Given the description of an element on the screen output the (x, y) to click on. 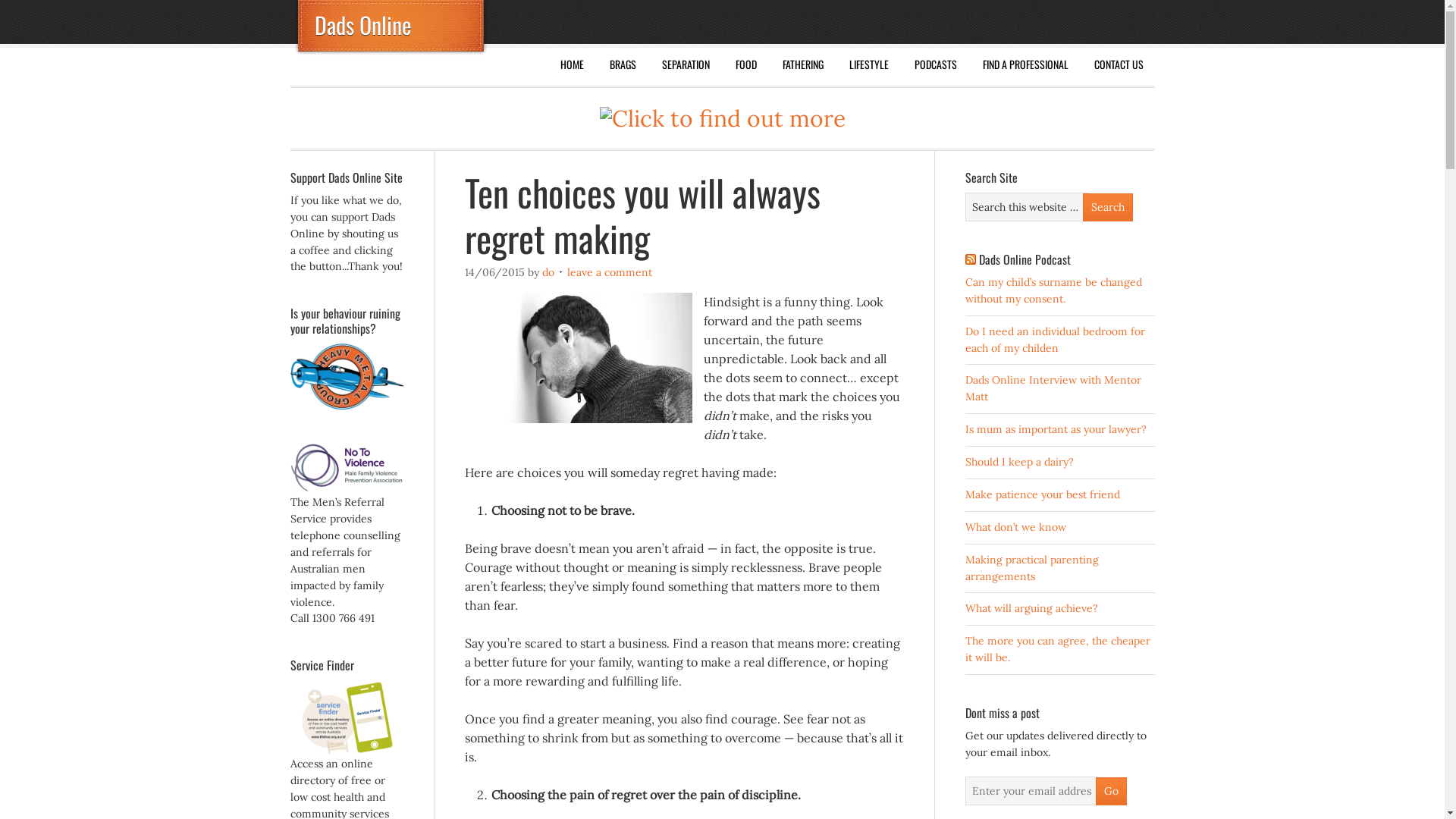
SEPARATION Element type: text (685, 62)
Do I need an individual bedroom for each of my childen Element type: text (1054, 339)
leave a comment Element type: text (609, 272)
Is your behaviour ruining your relationships? Element type: hover (346, 405)
PODCASTS Element type: text (934, 62)
FATHERING Element type: text (802, 62)
Make patience your best friend Element type: text (1041, 494)
BRAGS Element type: text (621, 62)
do Element type: text (547, 272)
Is mum as important as your lawyer? Element type: text (1054, 429)
Search Element type: text (1107, 207)
FOOD Element type: text (745, 62)
LIFESTYLE Element type: text (868, 62)
Dads Online Interview with Mentor Matt Element type: text (1052, 388)
HOME Element type: text (572, 62)
Dads Online Element type: text (362, 24)
CONTACT US Element type: text (1118, 62)
Dads Online Podcast Element type: text (1024, 259)
Making practical parenting arrangements Element type: text (1031, 567)
Go Element type: text (1110, 791)
The more you can agree, the cheaper it will be. Element type: text (1056, 648)
Should I keep a dairy? Element type: text (1018, 461)
FIND A PROFESSIONAL Element type: text (1024, 62)
Service Finder  Element type: hover (346, 752)
What will arguing achieve? Element type: text (1030, 608)
